Given the description of an element on the screen output the (x, y) to click on. 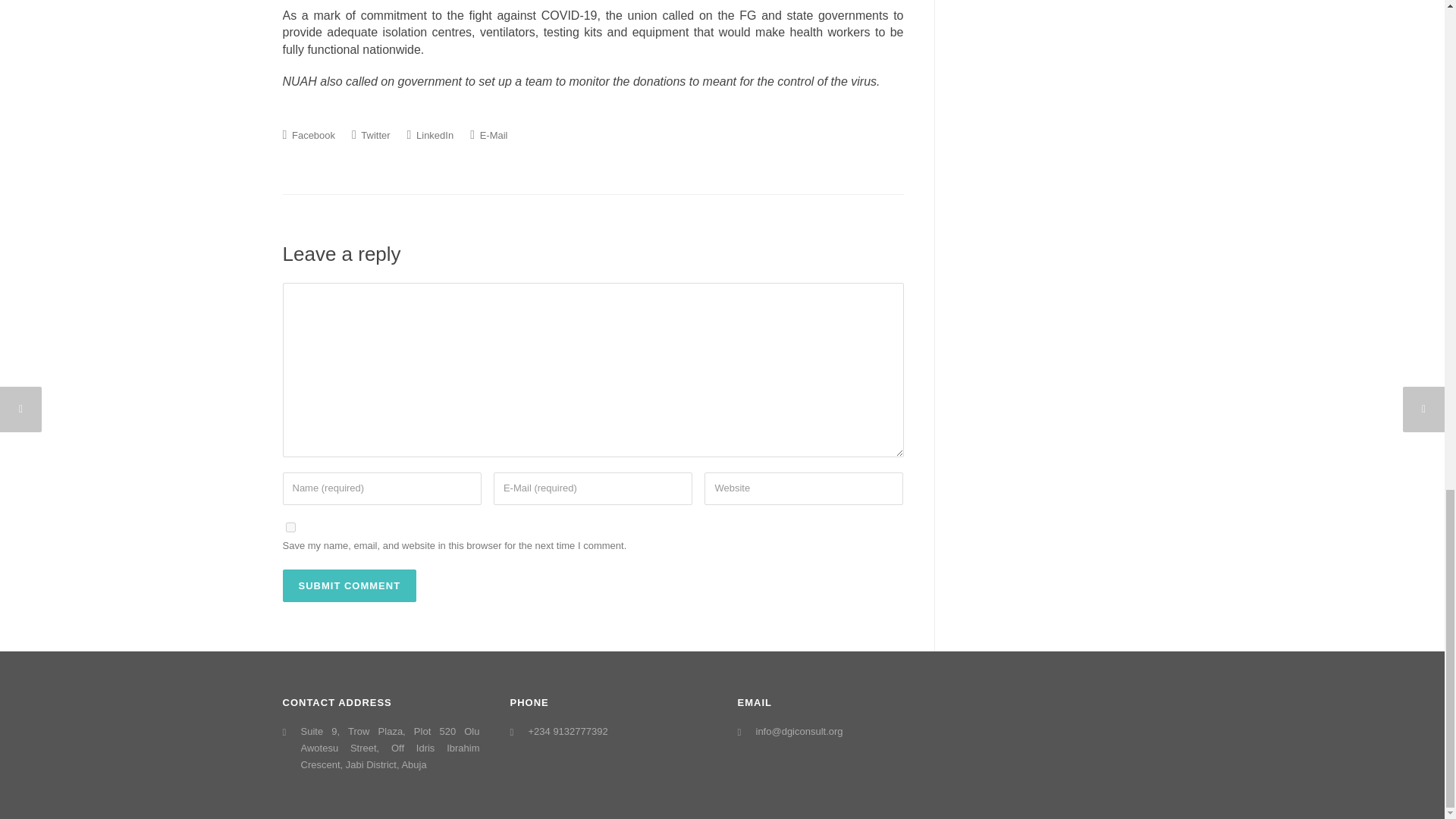
Share via Twitter (371, 134)
Share via LinkedIn (430, 134)
Share via Facebook (308, 134)
Website (803, 488)
yes (290, 527)
Submit Comment (349, 585)
Share via E-Mail (488, 134)
